Given the description of an element on the screen output the (x, y) to click on. 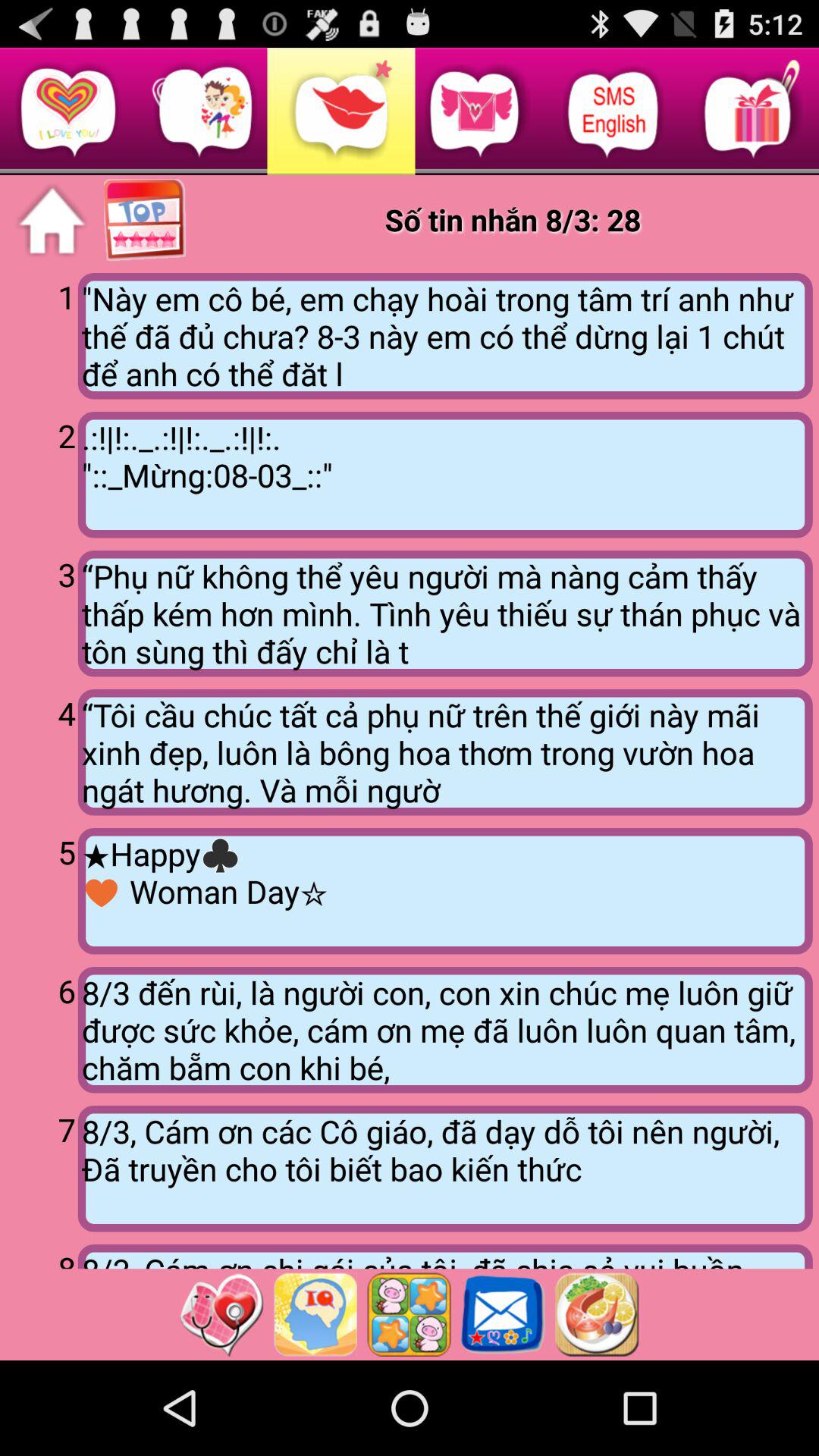
love messages (502, 1314)
